Given the description of an element on the screen output the (x, y) to click on. 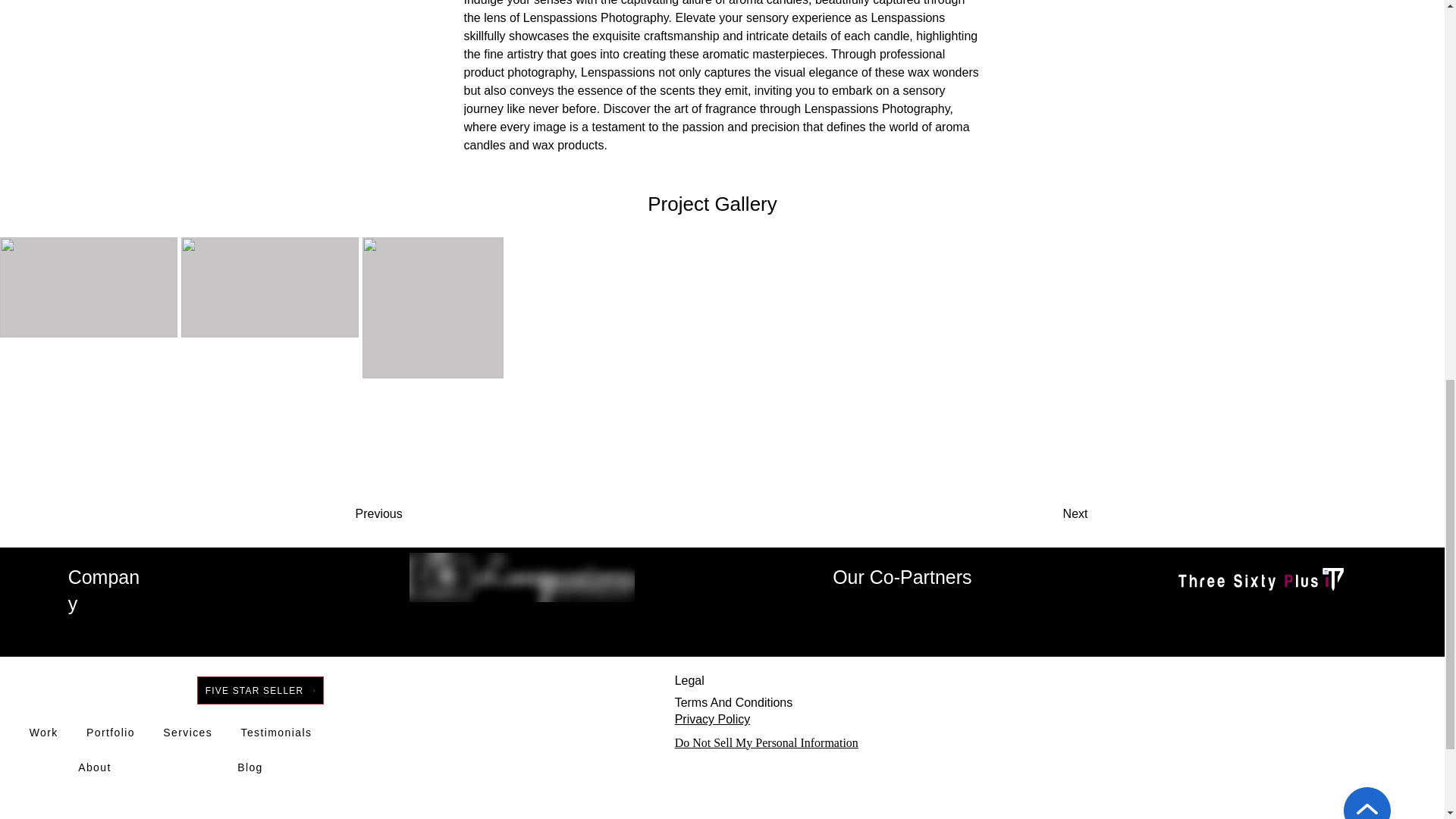
About (94, 767)
Our Partners (1271, 609)
Work (42, 733)
Next (1036, 513)
Portfolio (110, 733)
Testimonials (276, 733)
Blog (250, 767)
Services (188, 733)
Previous (416, 513)
FIVE STAR SELLER (259, 690)
